Given the description of an element on the screen output the (x, y) to click on. 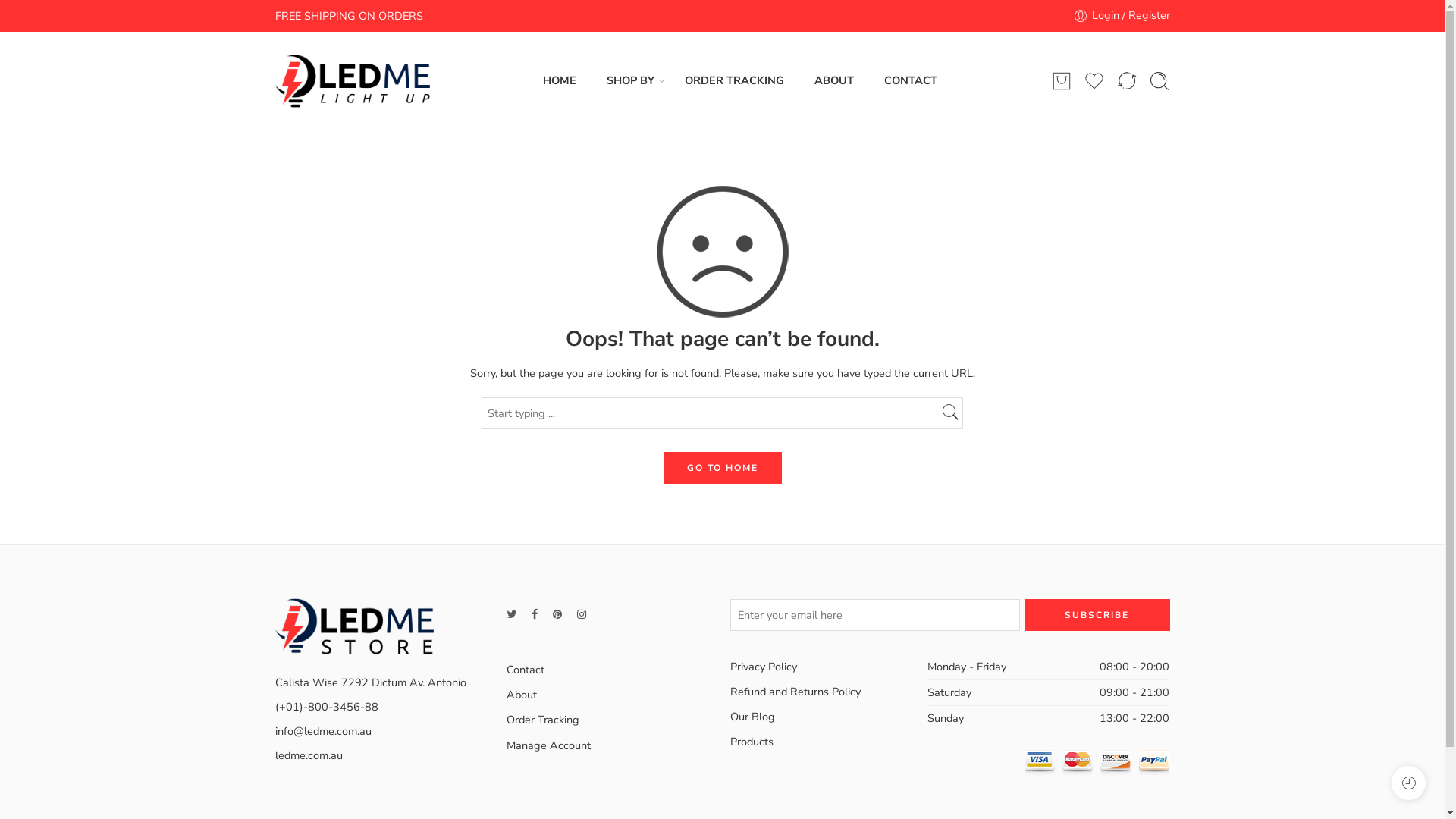
CONTACT Element type: text (910, 80)
Follow us on Twitter Element type: hover (511, 614)
Manage Account Element type: text (610, 745)
GO TO HOME Element type: text (721, 467)
Recently Viewed Element type: hover (1408, 782)
SUBSCRIBE Element type: text (1096, 614)
HOME Element type: text (559, 80)
Products Element type: text (827, 741)
ABOUT Element type: text (833, 80)
Order Tracking Element type: text (610, 719)
Wishlist Element type: hover (1093, 80)
Contact Element type: text (610, 669)
ledme.com.au Element type: text (308, 754)
Refund and Returns Policy Element type: text (827, 691)
Cart Element type: hover (1061, 80)
Follow us on Instagram Element type: hover (580, 614)
SHOP BY Element type: text (630, 80)
ORDER TRACKING Element type: text (734, 80)
Follow us on Facebook Element type: hover (533, 614)
Privacy Policy Element type: text (827, 666)
Our Blog Element type: text (827, 716)
Follow us on Pinterest Element type: hover (556, 614)
Search Element type: hover (1158, 80)
Login / Register Element type: text (1120, 15)
About Element type: text (610, 694)
info@ledme.com.au Element type: text (322, 730)
Compare Element type: hover (1126, 80)
LEDME - Bright LED Emporium Element type: hover (351, 80)
